Given the description of an element on the screen output the (x, y) to click on. 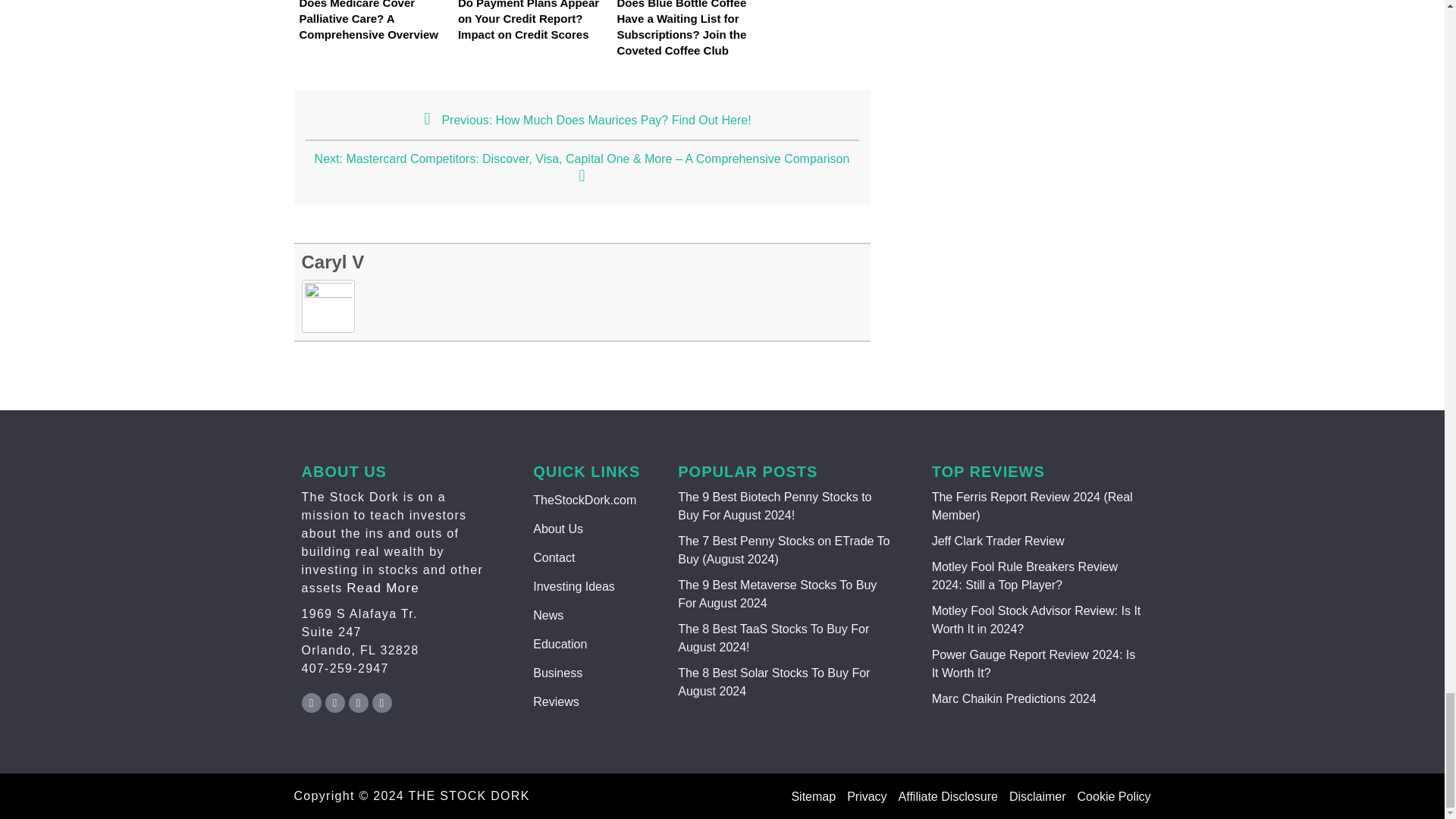
All posts by Caryl V (333, 261)
